Given the description of an element on the screen output the (x, y) to click on. 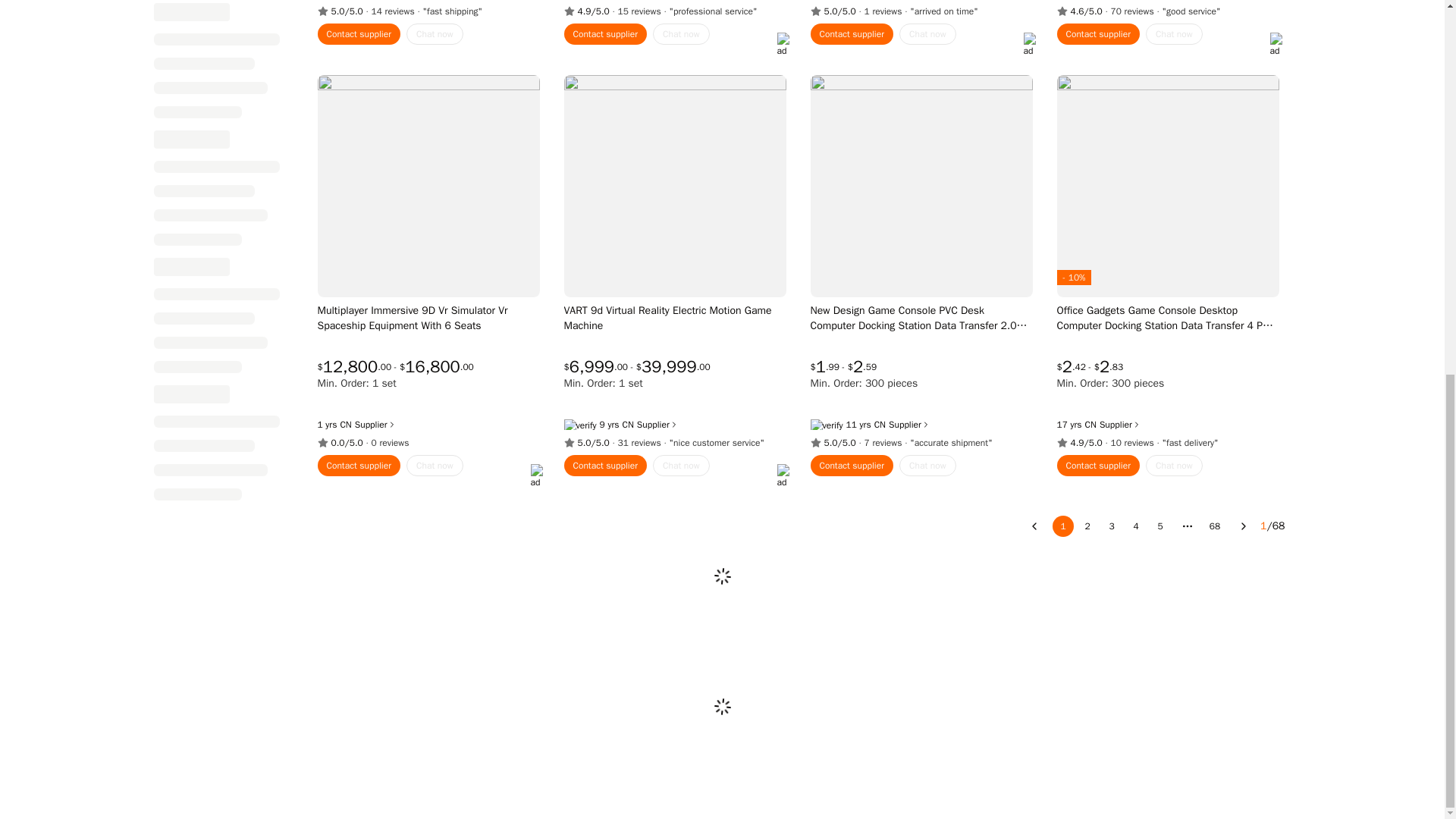
Contact supplier (605, 34)
Contact supplier (358, 34)
Chat now (681, 34)
Shenzhen Cwc Technology Co., Ltd. (1090, 424)
Guangzhou Longcheng Electronics Co., Ltd. (627, 424)
Chat now (434, 34)
Contact supplier (851, 34)
Shenzhen CWC Technology Co., Ltd. (880, 424)
